Given the description of an element on the screen output the (x, y) to click on. 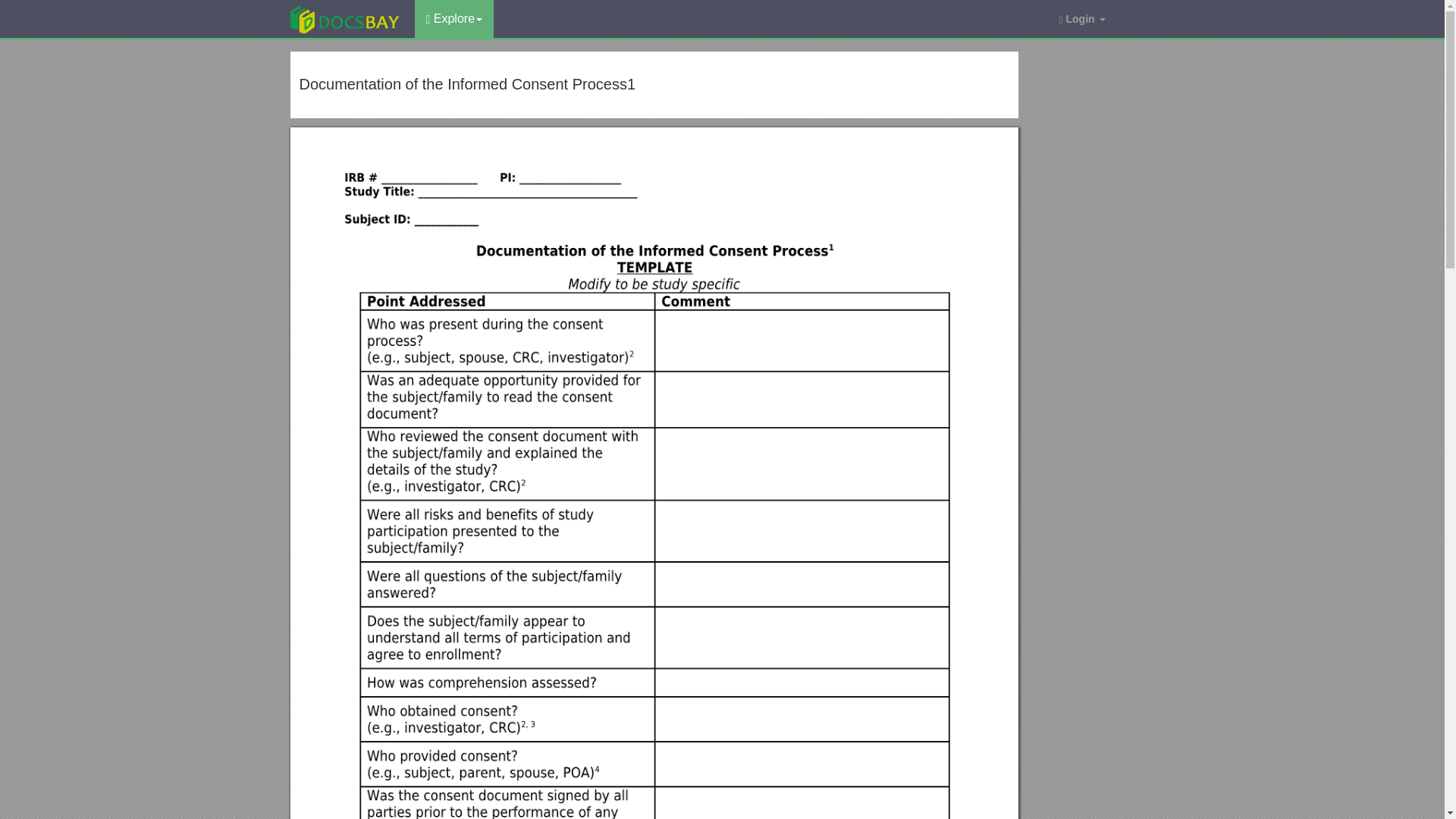
Explore (453, 18)
Login (1081, 18)
